Given the description of an element on the screen output the (x, y) to click on. 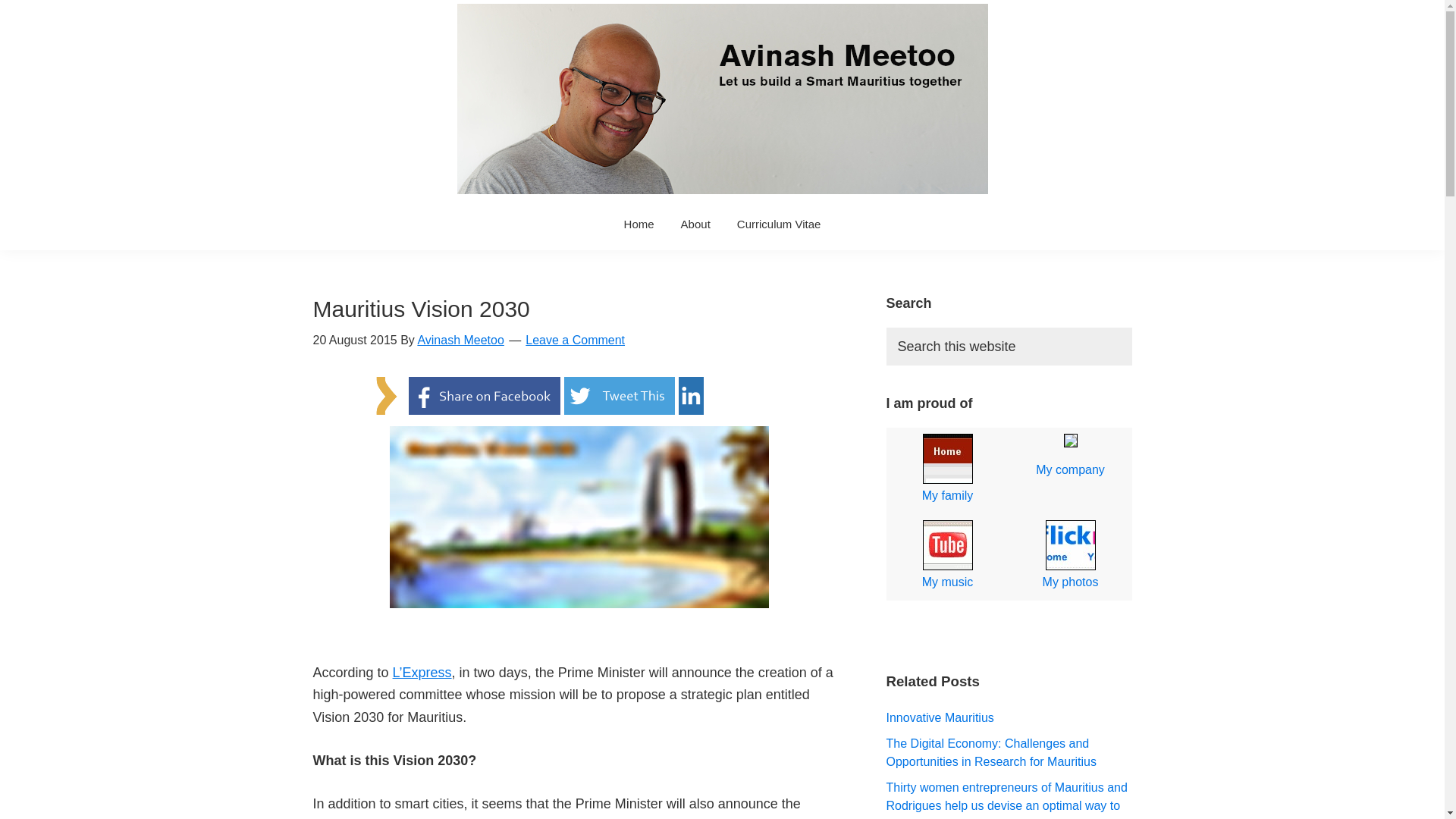
About (695, 224)
My family (947, 470)
Leave a Comment (574, 339)
Share this on Facebook (484, 387)
Curriculum Vitae (778, 224)
Innovative Mauritius (938, 717)
My music (947, 557)
